Given the description of an element on the screen output the (x, y) to click on. 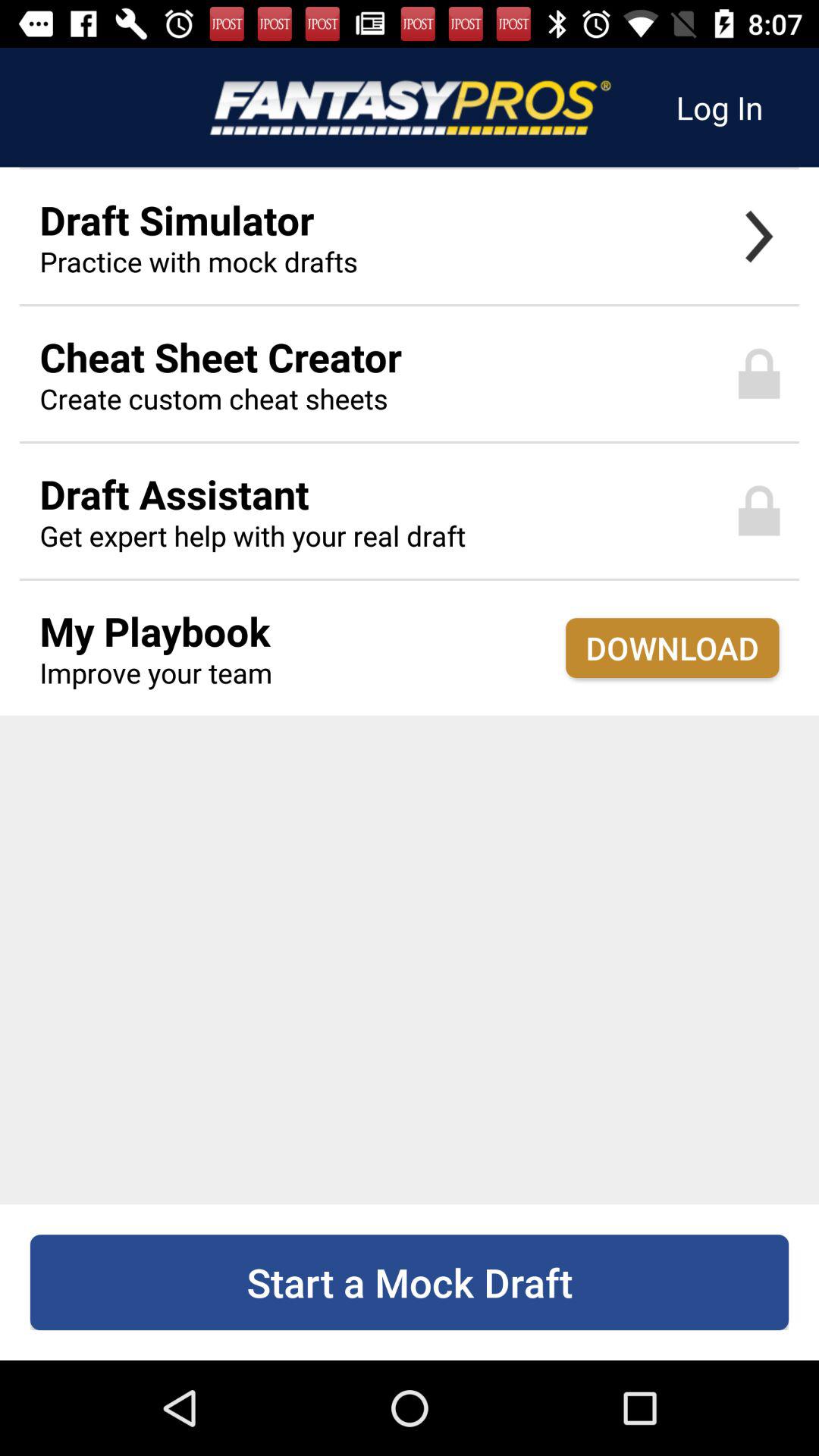
click on start a mock draft option (409, 1282)
